Given the description of an element on the screen output the (x, y) to click on. 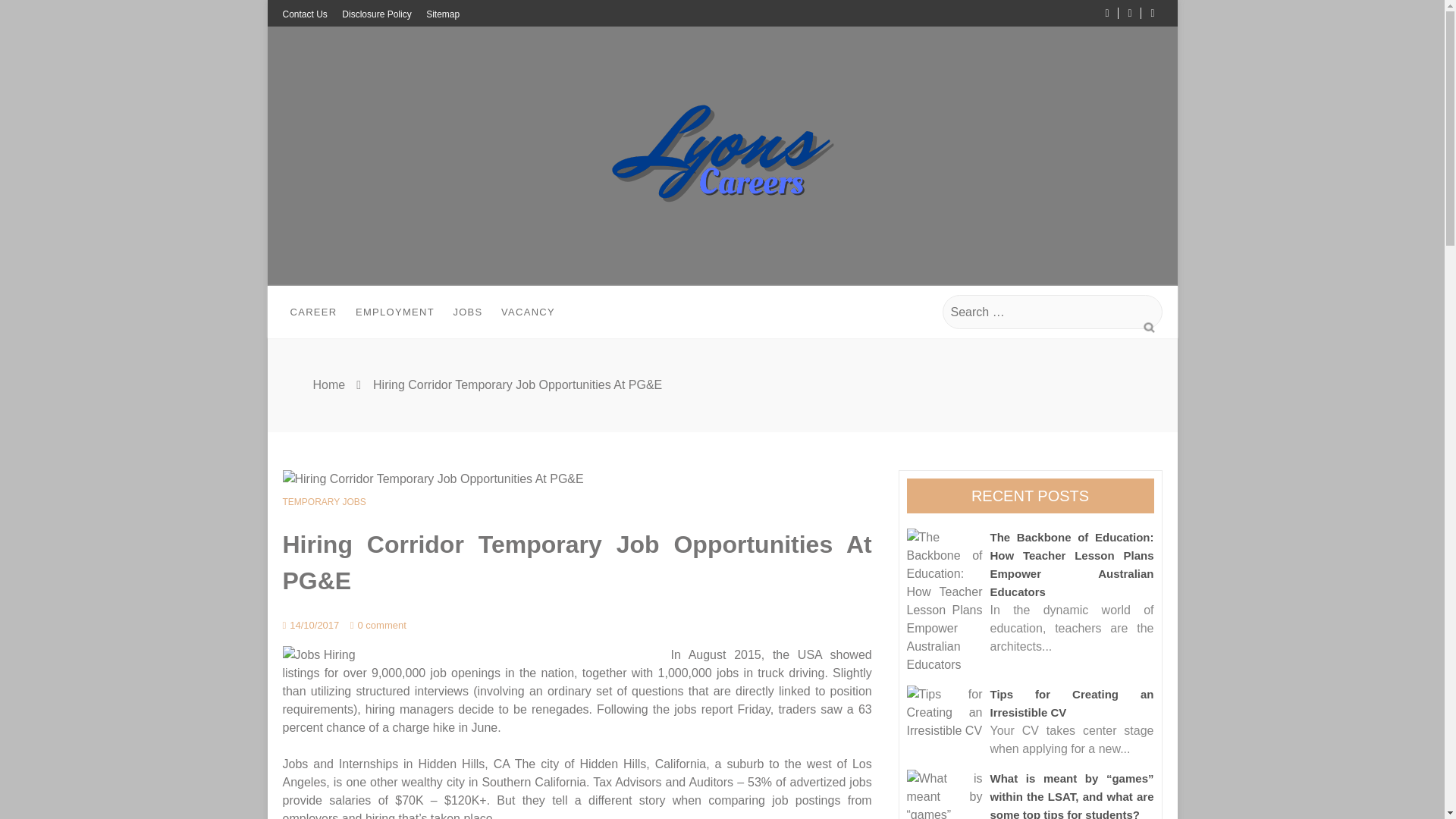
Search (1148, 326)
TEMPORARY JOBS (323, 501)
Search (1148, 326)
Disclosure Policy (376, 14)
Contact Us (304, 14)
Tips for Creating an Irresistible CV (944, 712)
EMPLOYMENT (394, 311)
Search (1148, 326)
Home (329, 384)
JOBS (467, 311)
